Given the description of an element on the screen output the (x, y) to click on. 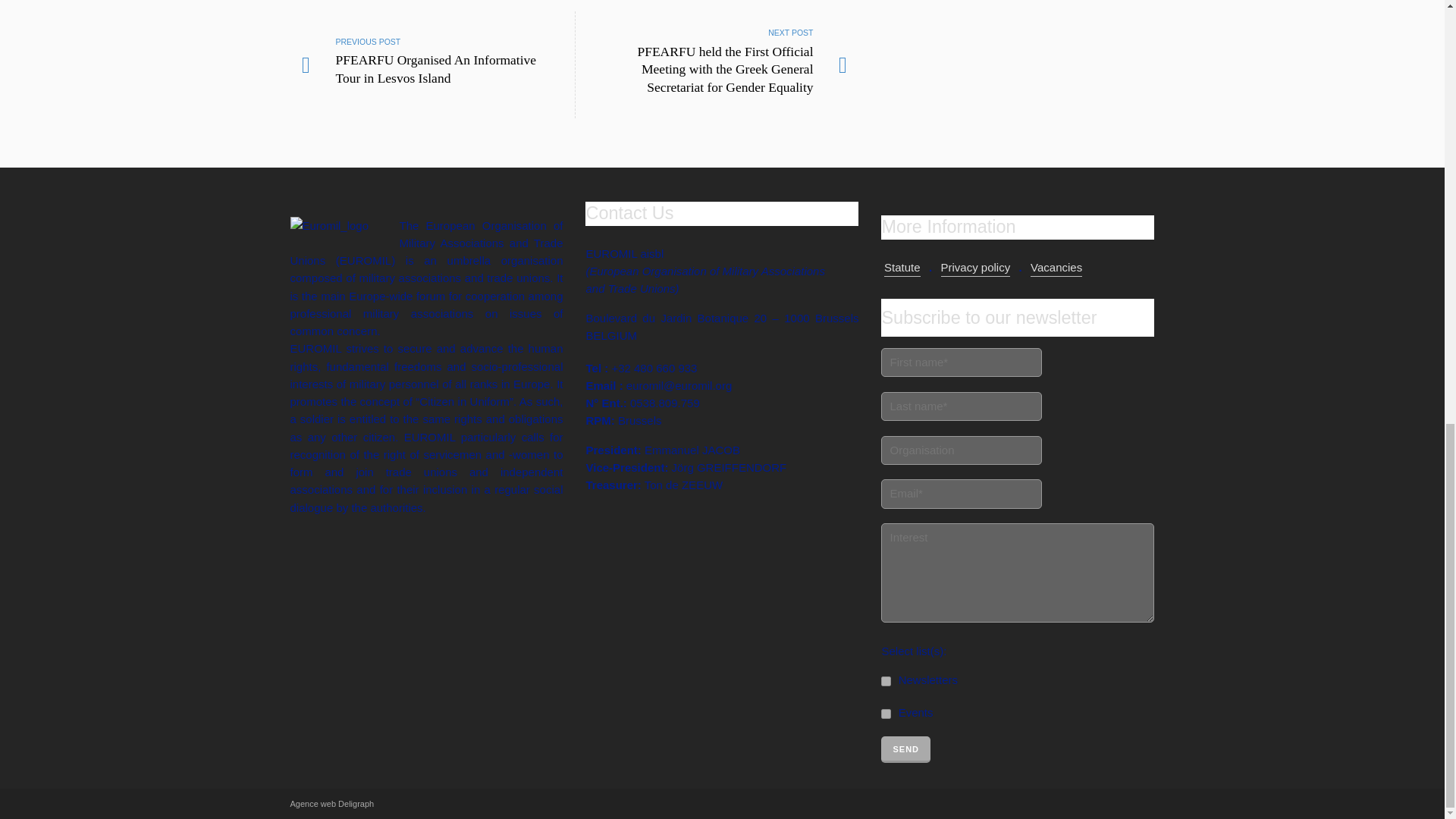
Agence web Deligraph (331, 803)
Organisation (961, 450)
14 (885, 681)
13 (885, 714)
Send (905, 749)
